Given the description of an element on the screen output the (x, y) to click on. 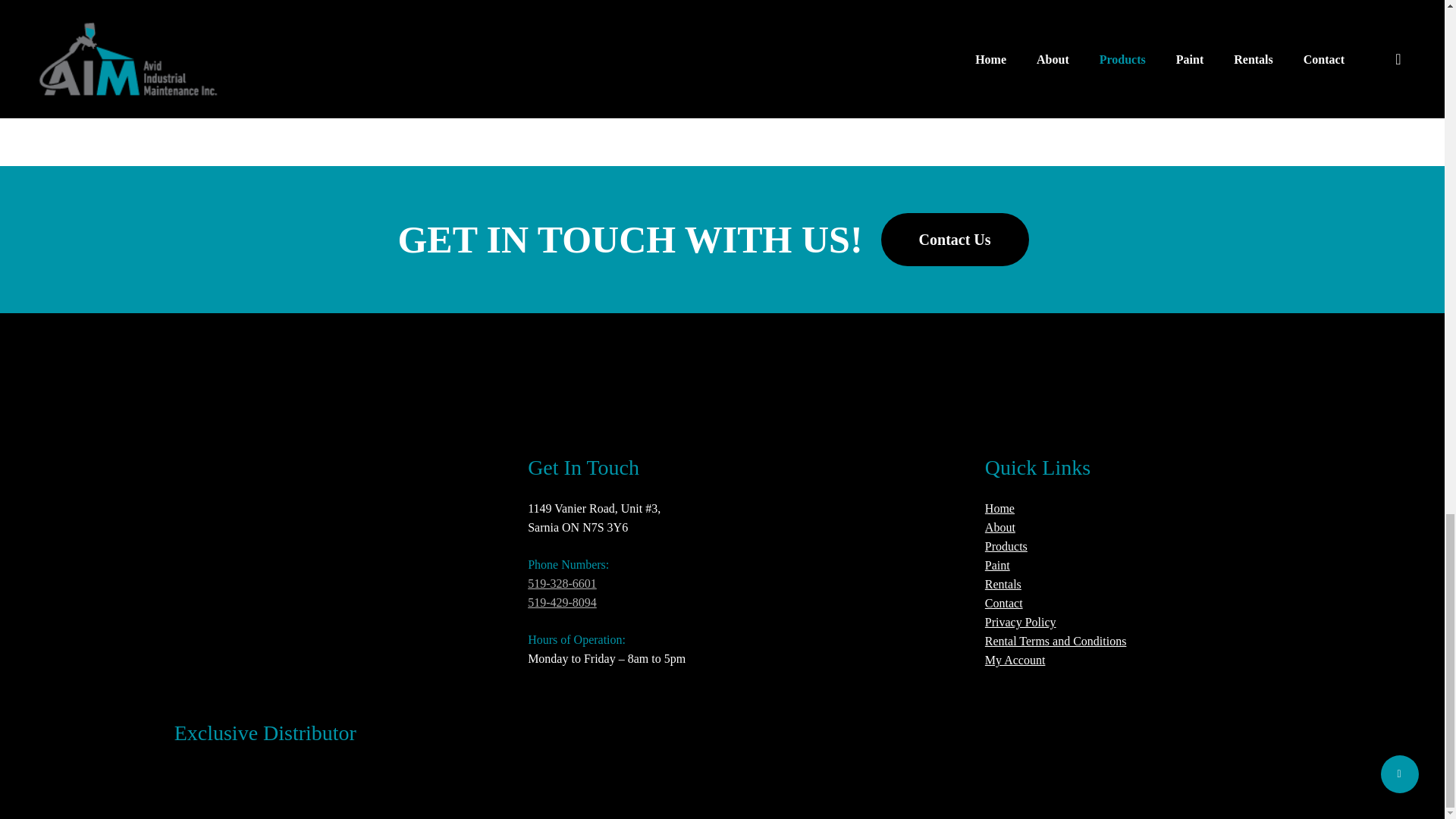
Contact Us (954, 239)
About (999, 526)
519-328-6601 (561, 583)
Products (1006, 545)
Home (999, 508)
519-429-8094 (561, 602)
